Given the description of an element on the screen output the (x, y) to click on. 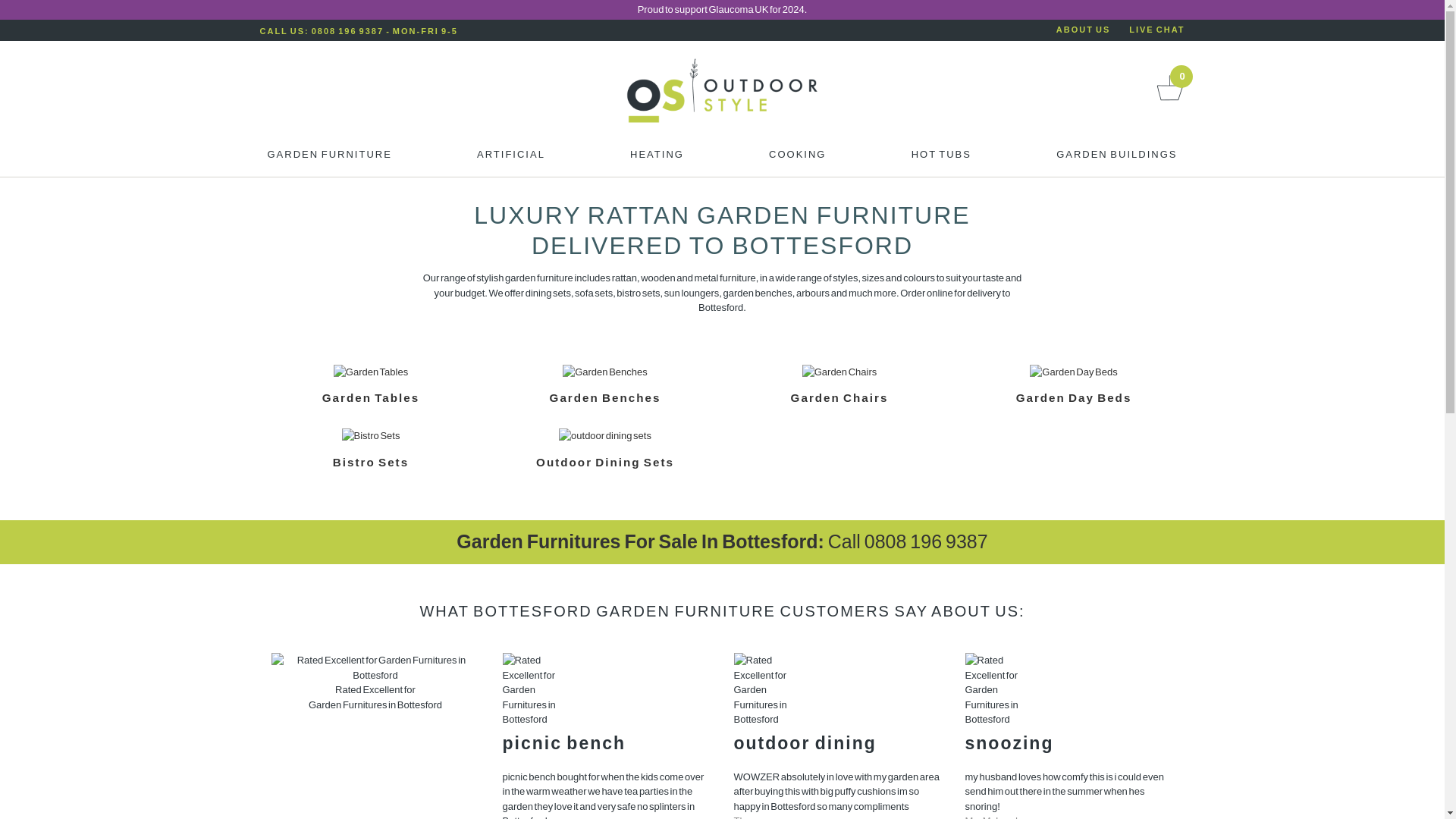
CALL US: 0808 196 9387 - MON-FRI 9-5 (358, 31)
HEATING (657, 158)
ABOUT US (1083, 29)
0 (1169, 99)
LIVE CHAT (1157, 29)
GARDEN FURNITURE (328, 158)
ARTIFICIAL (510, 158)
